Given the description of an element on the screen output the (x, y) to click on. 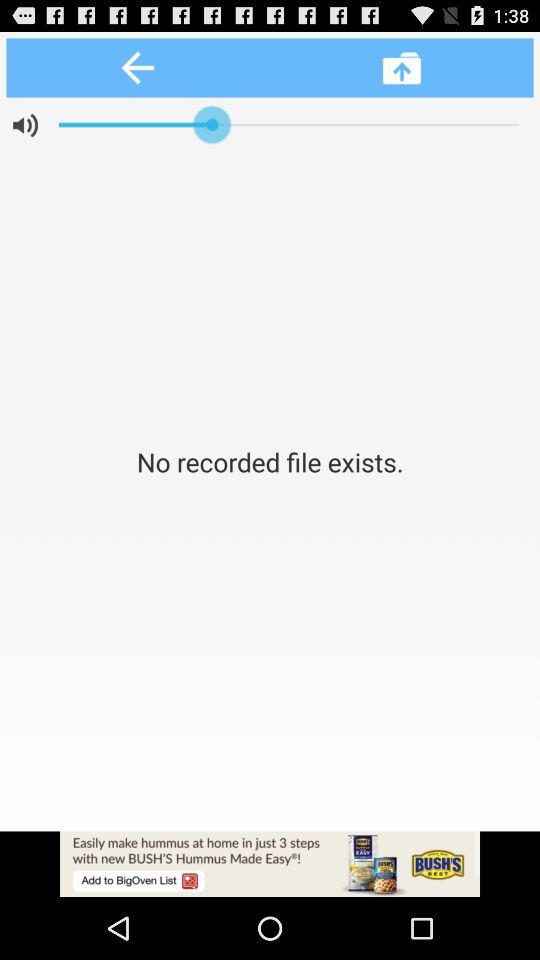
select advertisement (270, 864)
